Given the description of an element on the screen output the (x, y) to click on. 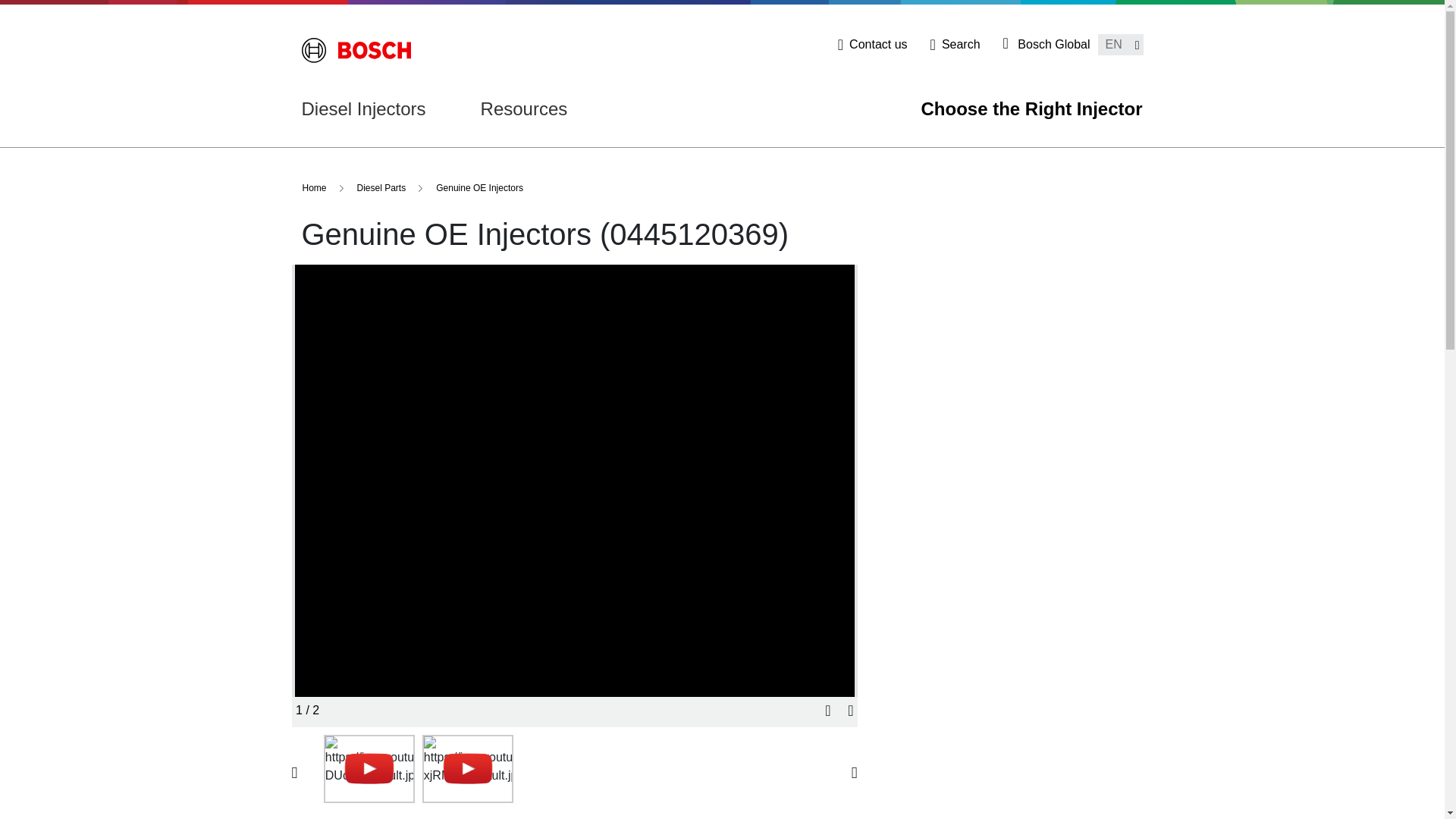
Home (313, 187)
Choose the Right Injector (1031, 109)
Home (313, 187)
Bosch Global (1046, 45)
Diesel Parts (381, 187)
Diesel Parts (381, 187)
Contact us (872, 45)
Resources (523, 109)
Search (954, 45)
Diesel Injectors (363, 109)
Go to  (355, 50)
